Given the description of an element on the screen output the (x, y) to click on. 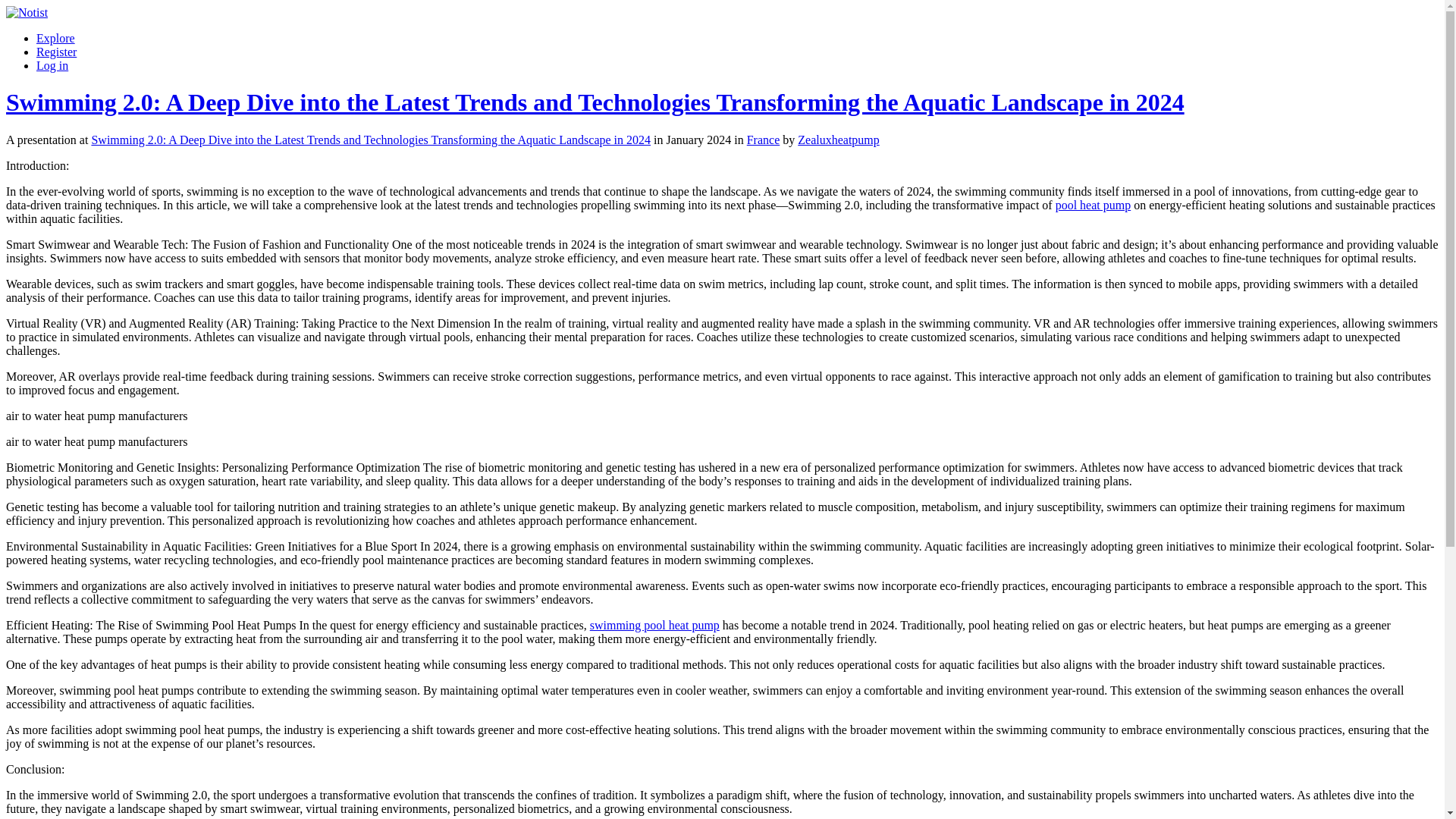
Zealuxheatpump (838, 139)
swimming pool heat pump (654, 625)
Explore (55, 38)
France (763, 139)
pool heat pump (1093, 205)
Log in (52, 65)
Register (56, 51)
